Given the description of an element on the screen output the (x, y) to click on. 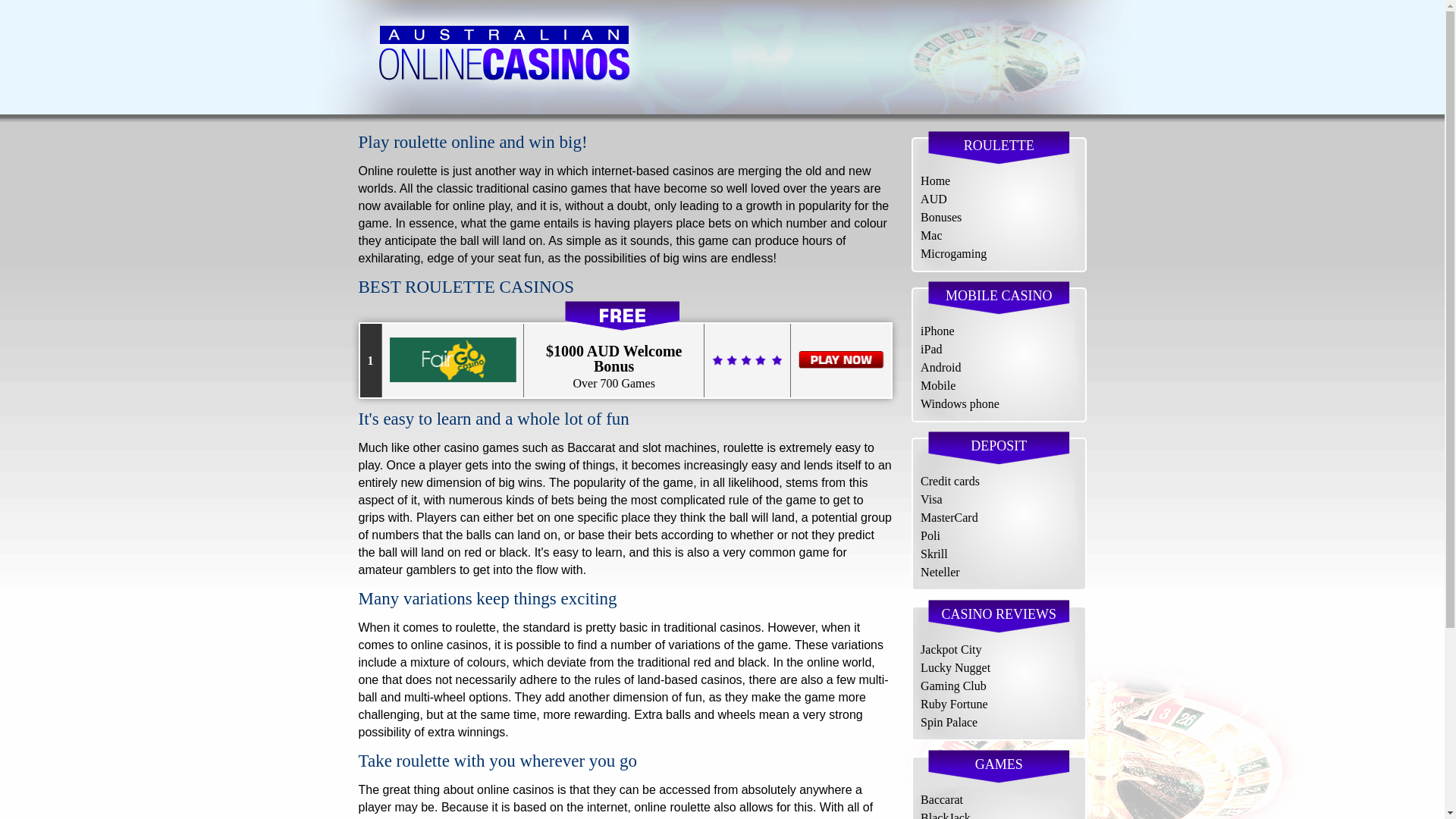
iPhone (936, 330)
Bonuses (940, 216)
Gaming Club (953, 685)
Home (935, 180)
MasterCard (949, 517)
Credit cards (949, 481)
Neteller (939, 571)
Ruby Fortune (953, 703)
Skrill (933, 553)
Jackpot City (950, 649)
Windows phone (959, 403)
iPad (931, 349)
Roulette Casinos (502, 57)
Android (940, 367)
BlackJack (945, 815)
